Given the description of an element on the screen output the (x, y) to click on. 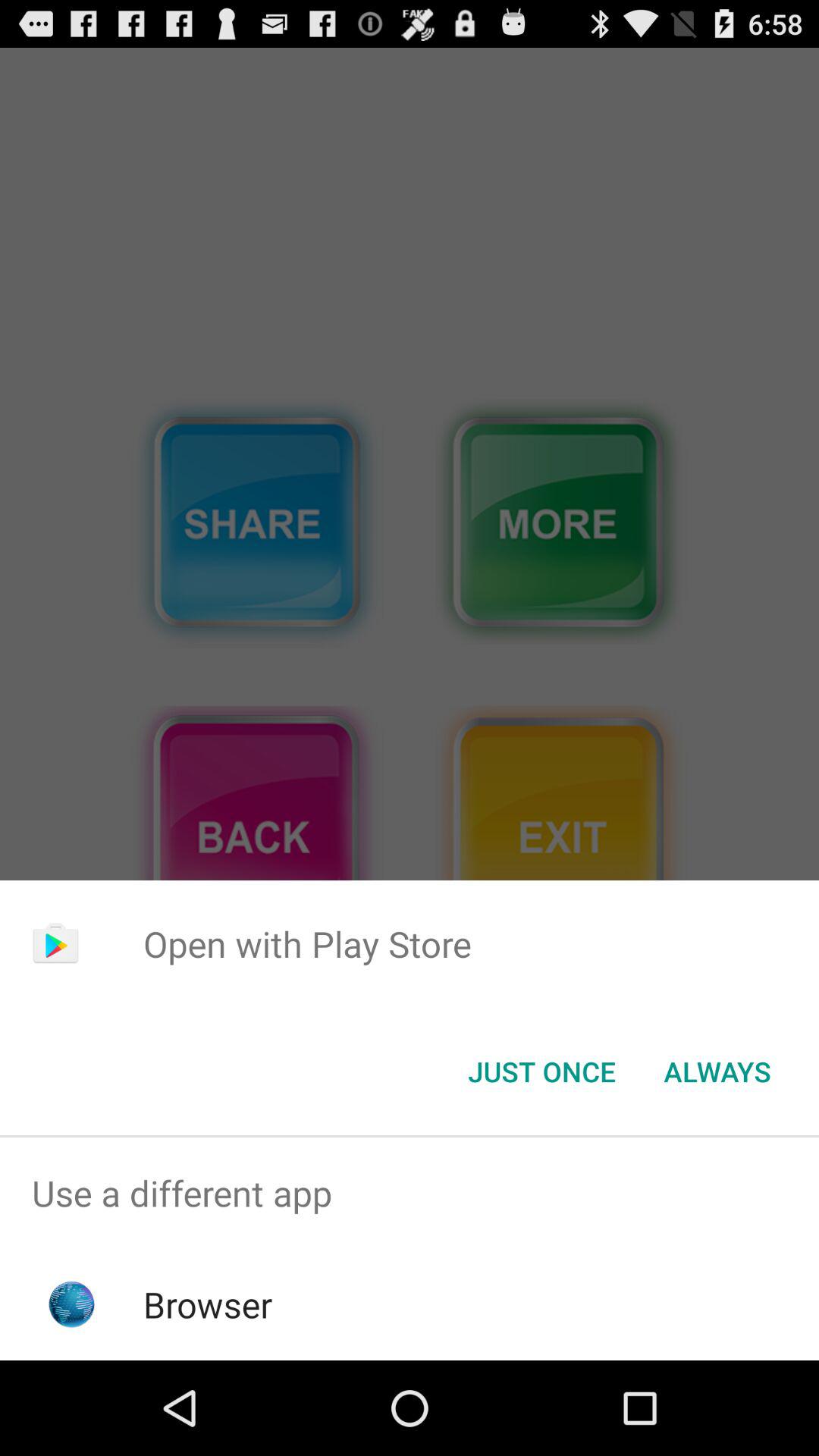
swipe to the use a different (409, 1192)
